Given the description of an element on the screen output the (x, y) to click on. 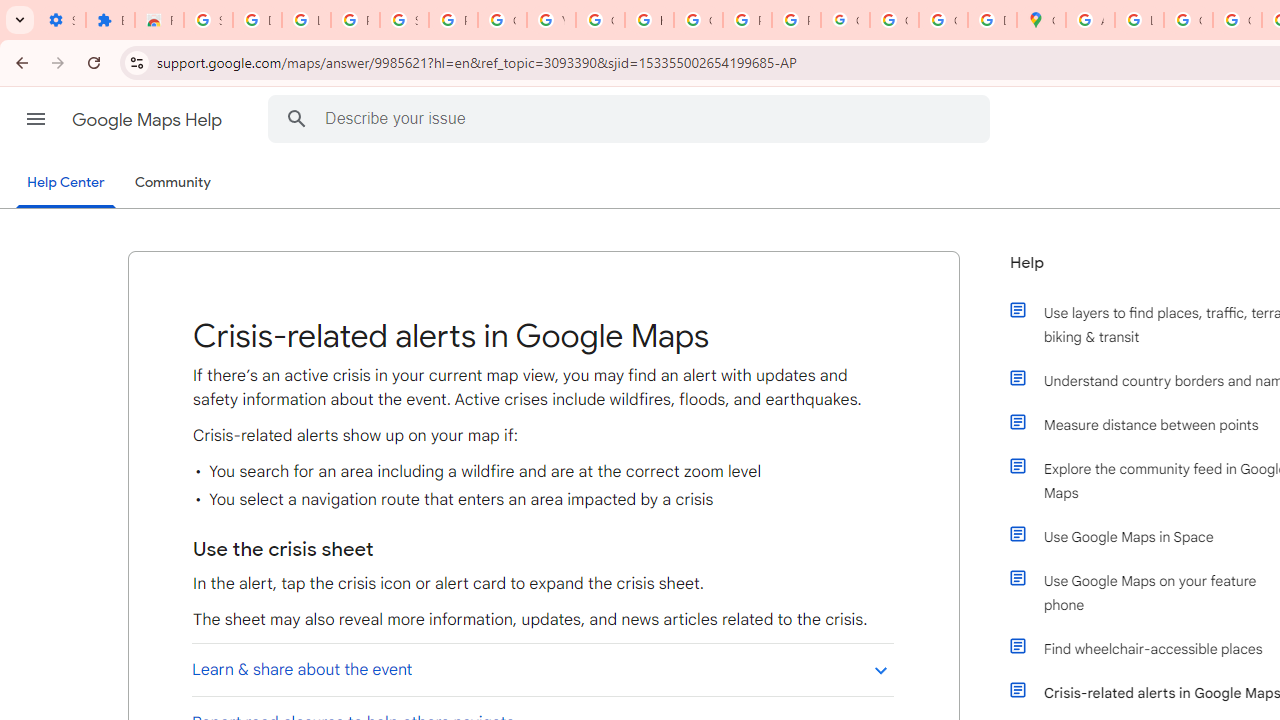
Create your Google Account (1188, 20)
Sign in - Google Accounts (208, 20)
Describe your issue (632, 118)
